Given the description of an element on the screen output the (x, y) to click on. 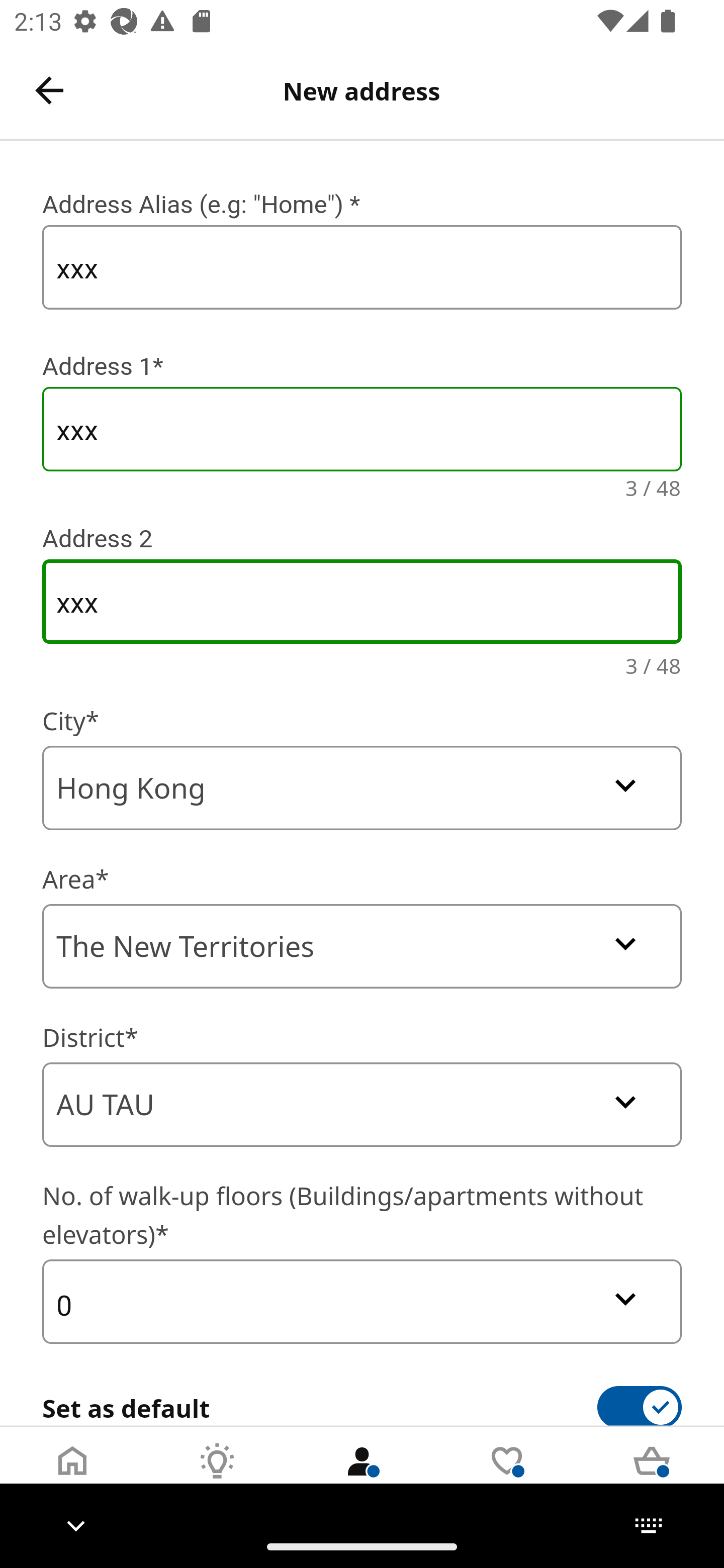
xxx (361, 266)
xxx (361, 429)
xxx (361, 601)
Hong Kong (361, 787)
The New Territories (361, 945)
AU TAU (361, 1104)
0 (361, 1301)
Home
Tab 1 of 5 (72, 1476)
Inspirations
Tab 2 of 5 (216, 1476)
User
Tab 3 of 5 (361, 1476)
Wishlist
Tab 4 of 5 (506, 1476)
Cart
Tab 5 of 5 (651, 1476)
